Given the description of an element on the screen output the (x, y) to click on. 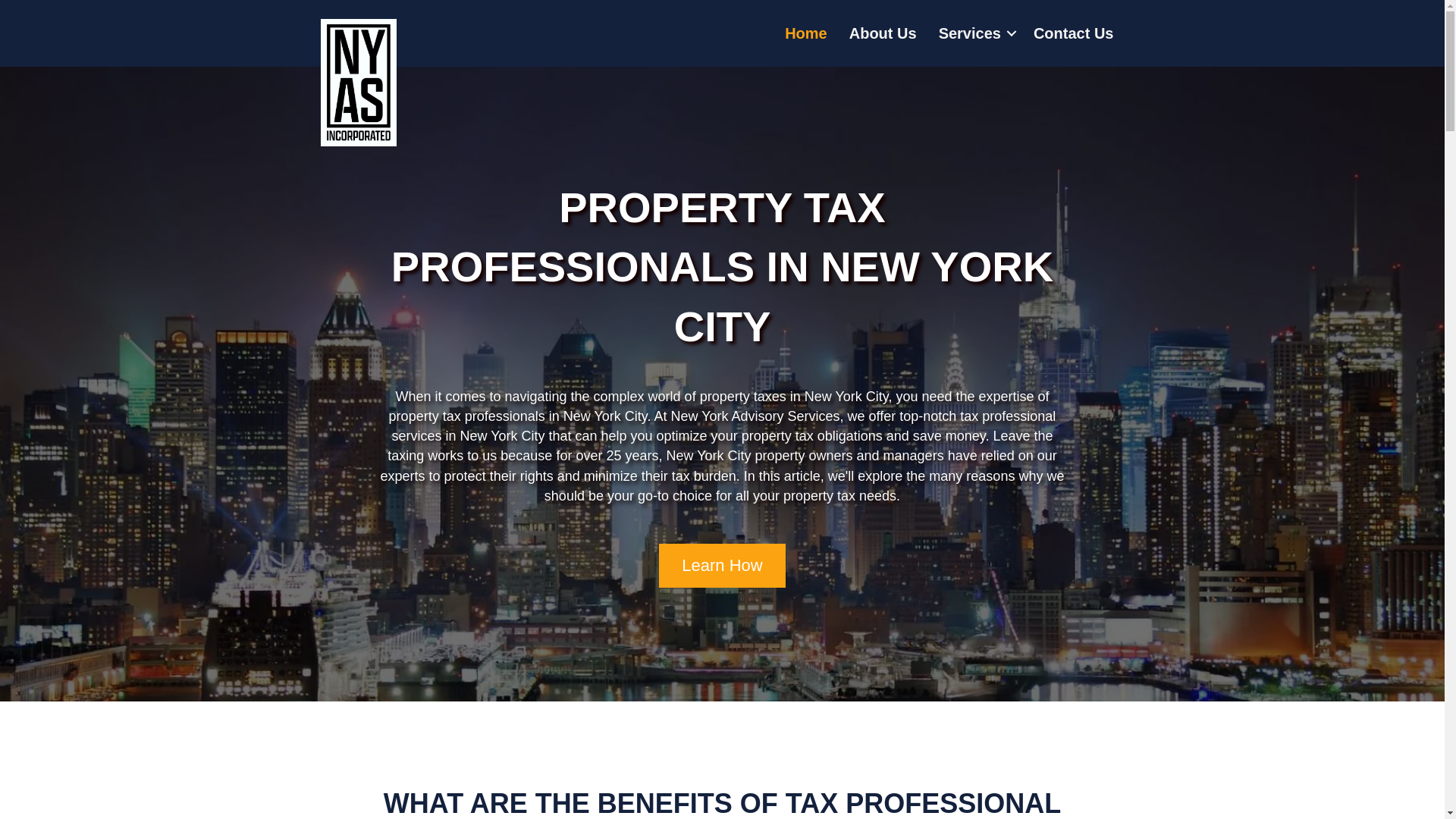
Contact Us (1073, 33)
About Us (882, 33)
Learn How (721, 565)
Home (806, 33)
Services (975, 33)
